Given the description of an element on the screen output the (x, y) to click on. 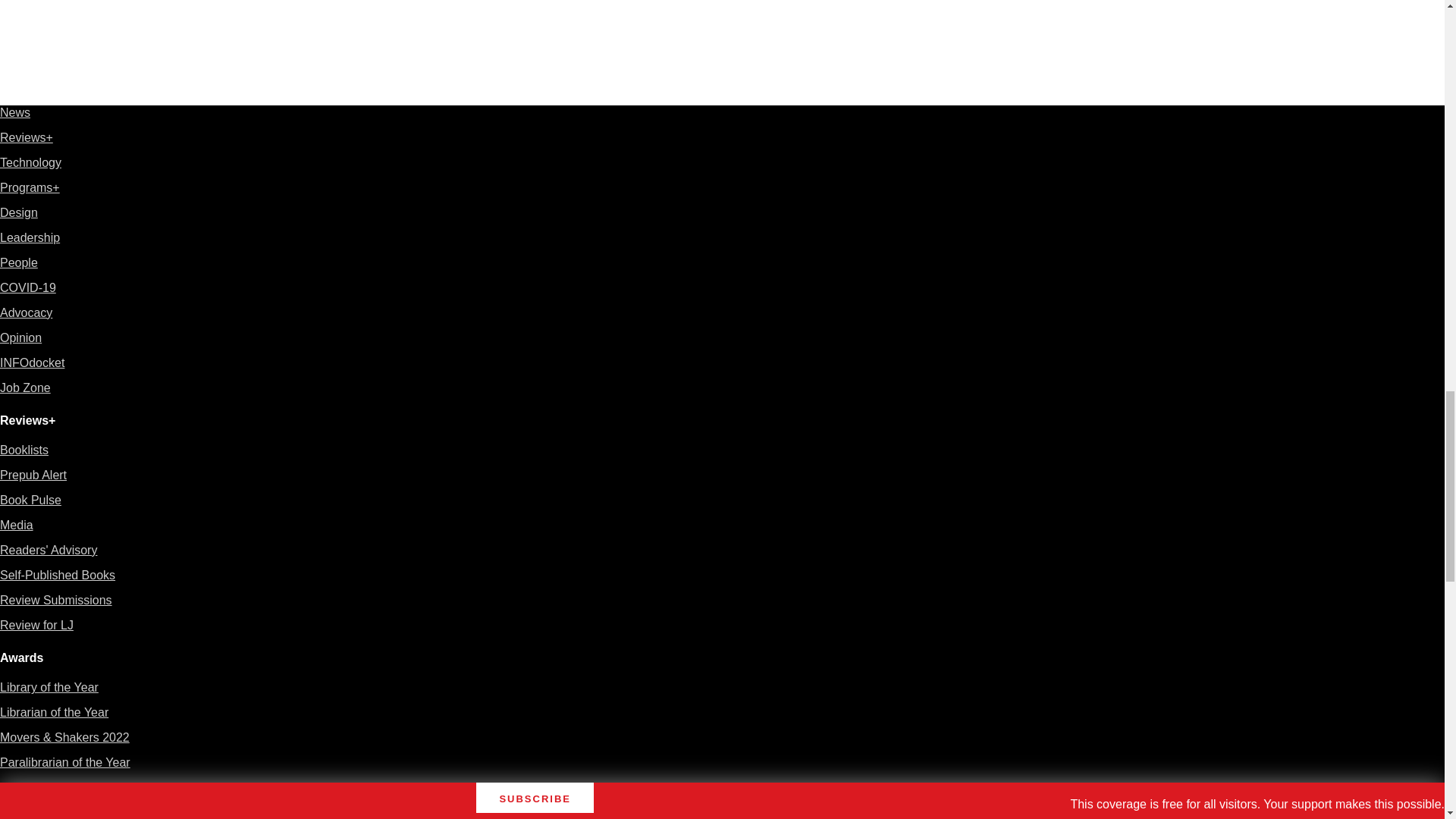
3rd party ad content (1106, 4)
